Given the description of an element on the screen output the (x, y) to click on. 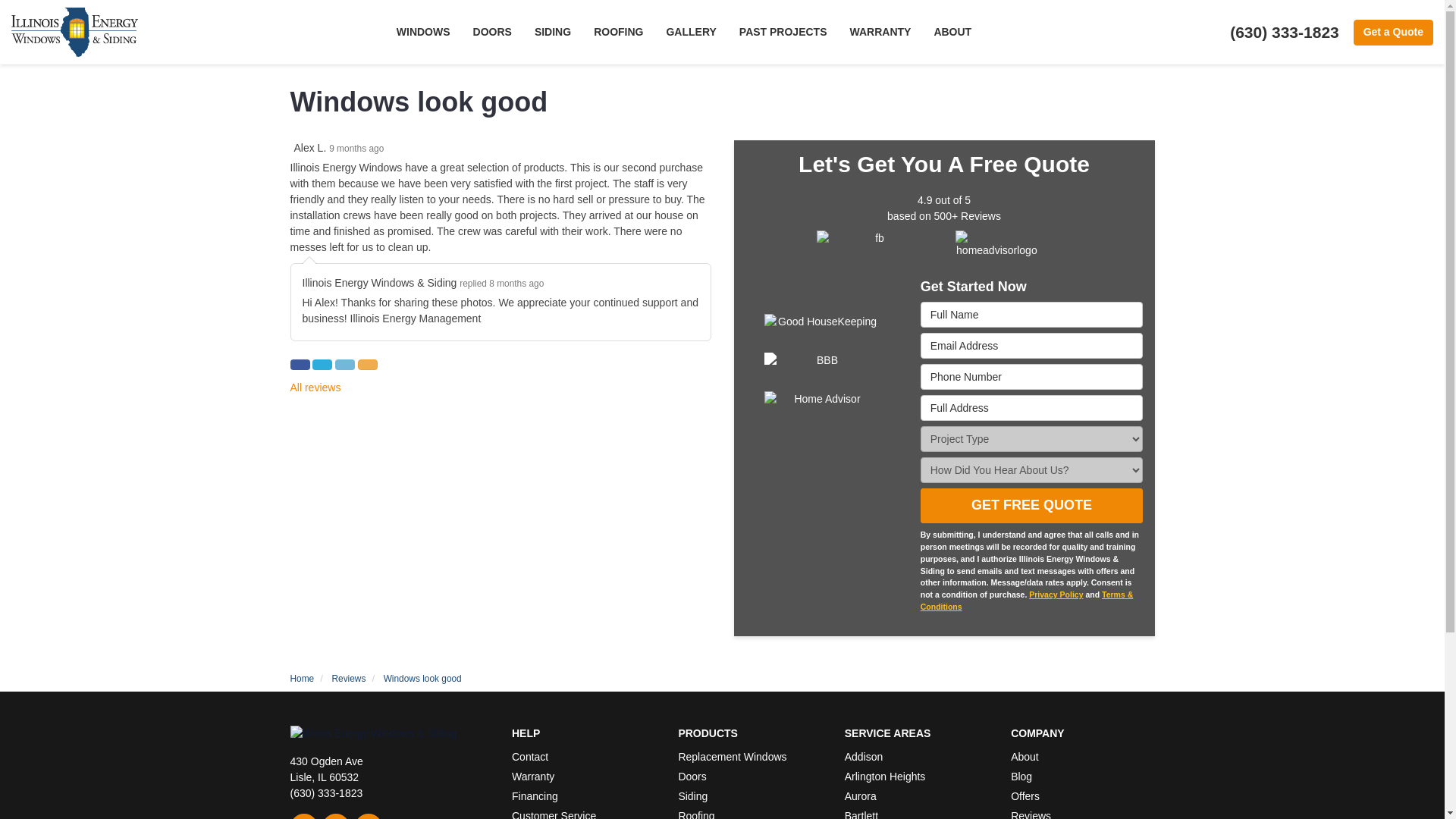
ABOUT (951, 32)
SIDING (552, 32)
Get a Quote (1393, 32)
GALLERY (689, 32)
WARRANTY (880, 32)
PAST PROJECTS (783, 32)
DOORS (491, 32)
ROOFING (617, 32)
WINDOWS (423, 32)
Get a Quote (1393, 32)
